Given the description of an element on the screen output the (x, y) to click on. 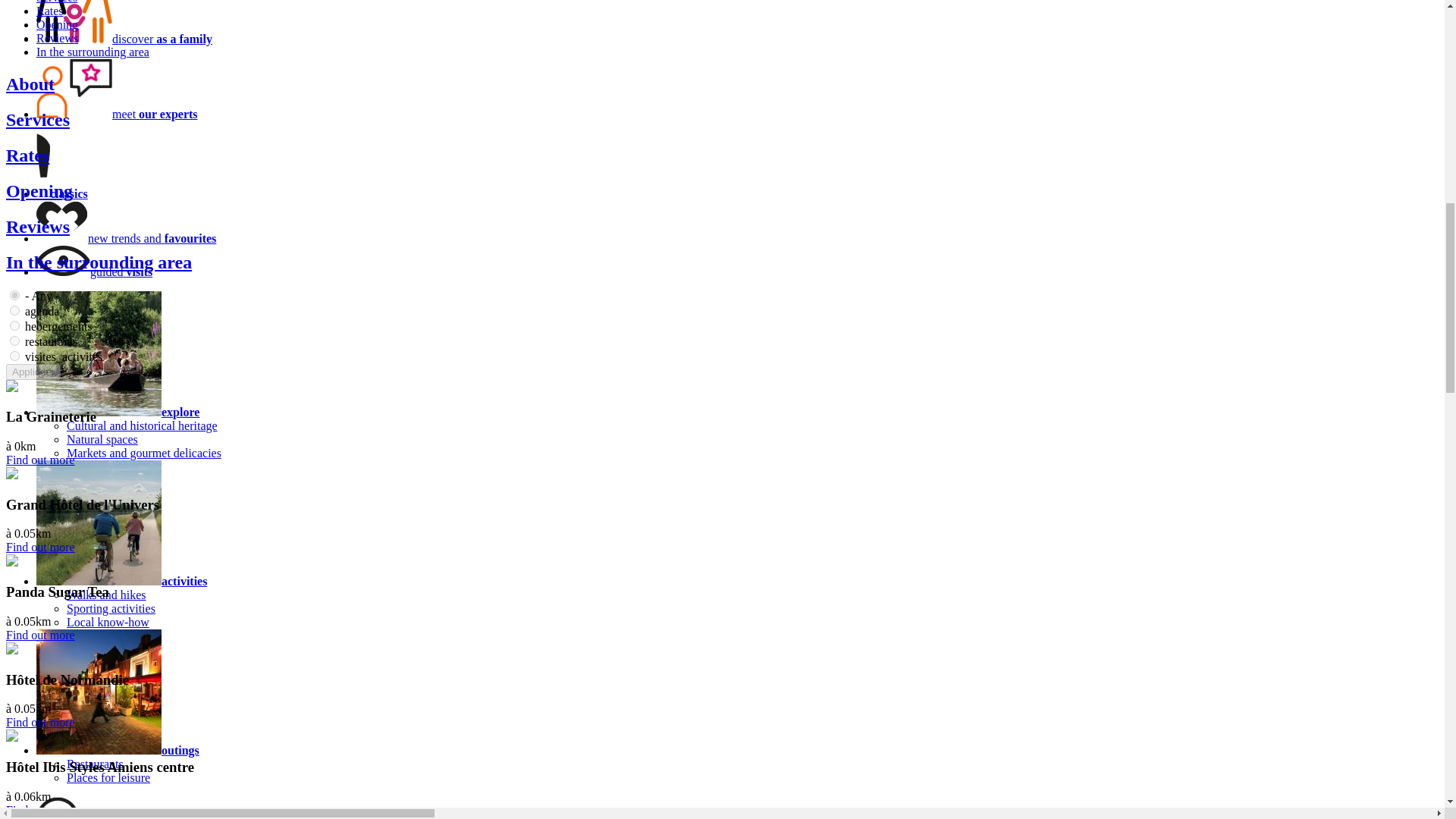
Walks and hikes (105, 594)
classics (68, 193)
Places for leisure (107, 777)
Natural spaces (102, 439)
Local know-how (107, 621)
All (15, 295)
Restaurants (94, 763)
guided visits (121, 271)
new trends and favourites (151, 237)
Sporting activities (110, 608)
Markets and gourmet delicacies (143, 452)
outings (180, 749)
explore (180, 411)
restaurants (15, 340)
discover as a family (162, 38)
